Given the description of an element on the screen output the (x, y) to click on. 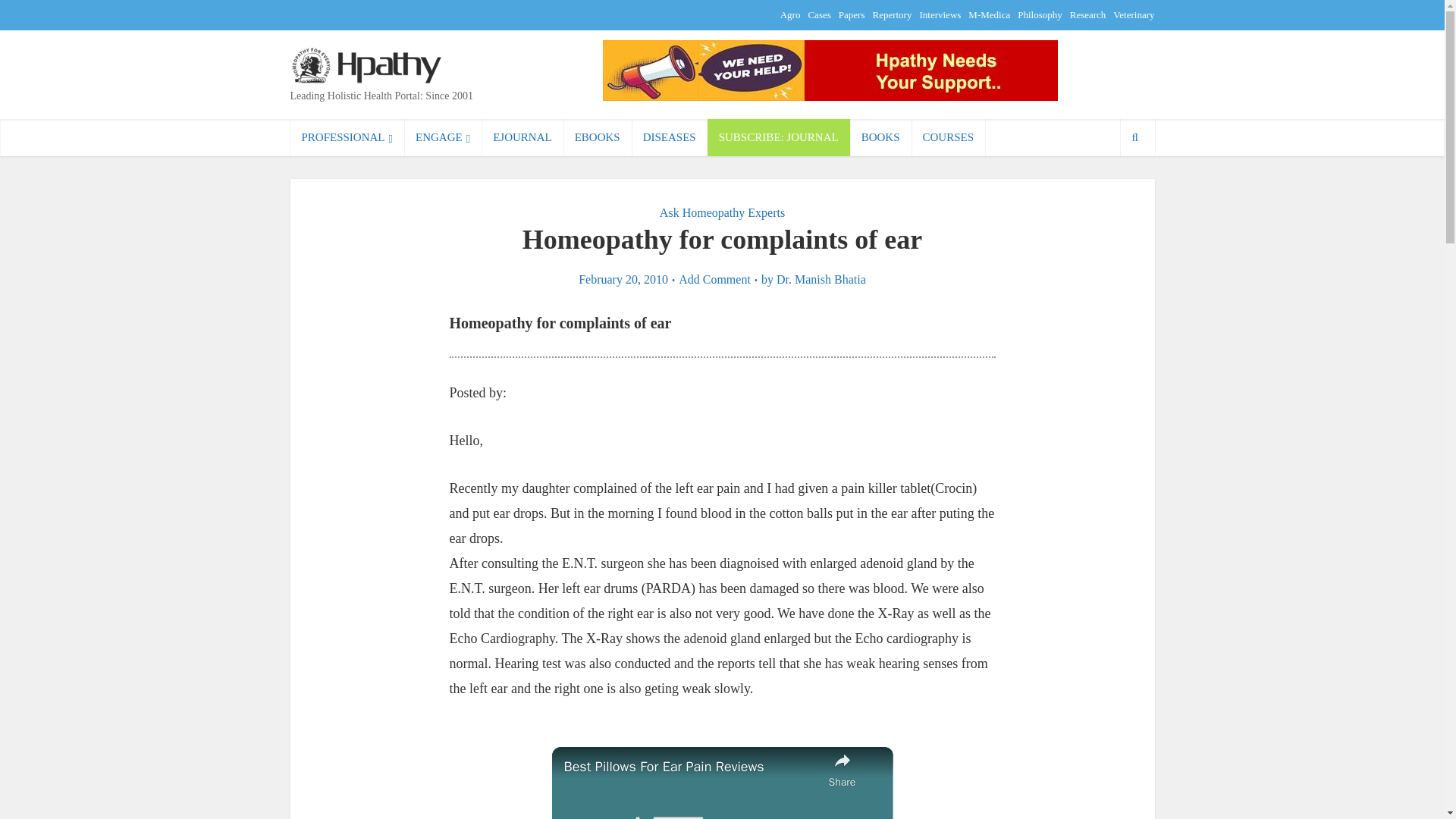
Research (1088, 14)
Interviews (939, 14)
COURSES (948, 137)
BOOKS (880, 137)
Repertory (891, 14)
SUBSCRIBE: JOURNAL (778, 137)
share (842, 768)
Cases (818, 14)
Papers (851, 14)
M-Medica (989, 14)
Agro (790, 14)
EBOOKS (597, 137)
PROFESSIONAL (346, 137)
EJOURNAL (522, 137)
ENGAGE (442, 137)
